Given the description of an element on the screen output the (x, y) to click on. 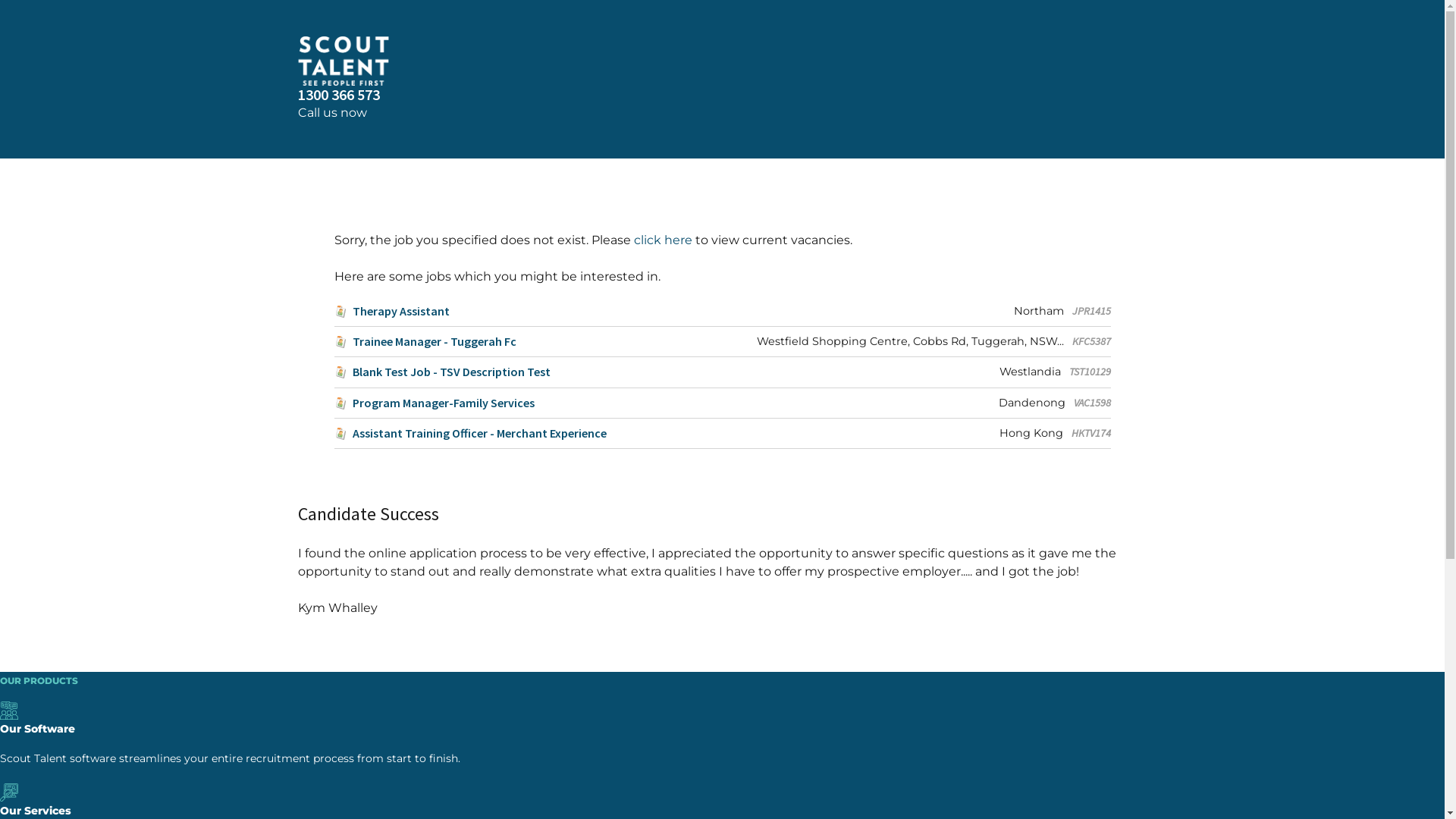
Blank Test Job - TSV Description Test Element type: text (441, 371)
Therapy Assistant Element type: text (390, 311)
Trainee Manager - Tuggerah Fc Element type: text (424, 341)
Assistant Training Officer - Merchant Experience Element type: text (469, 433)
Program Manager-Family Services Element type: text (433, 402)
click here Element type: text (662, 239)
Scout Talent Element type: hover (721, 60)
